Given the description of an element on the screen output the (x, y) to click on. 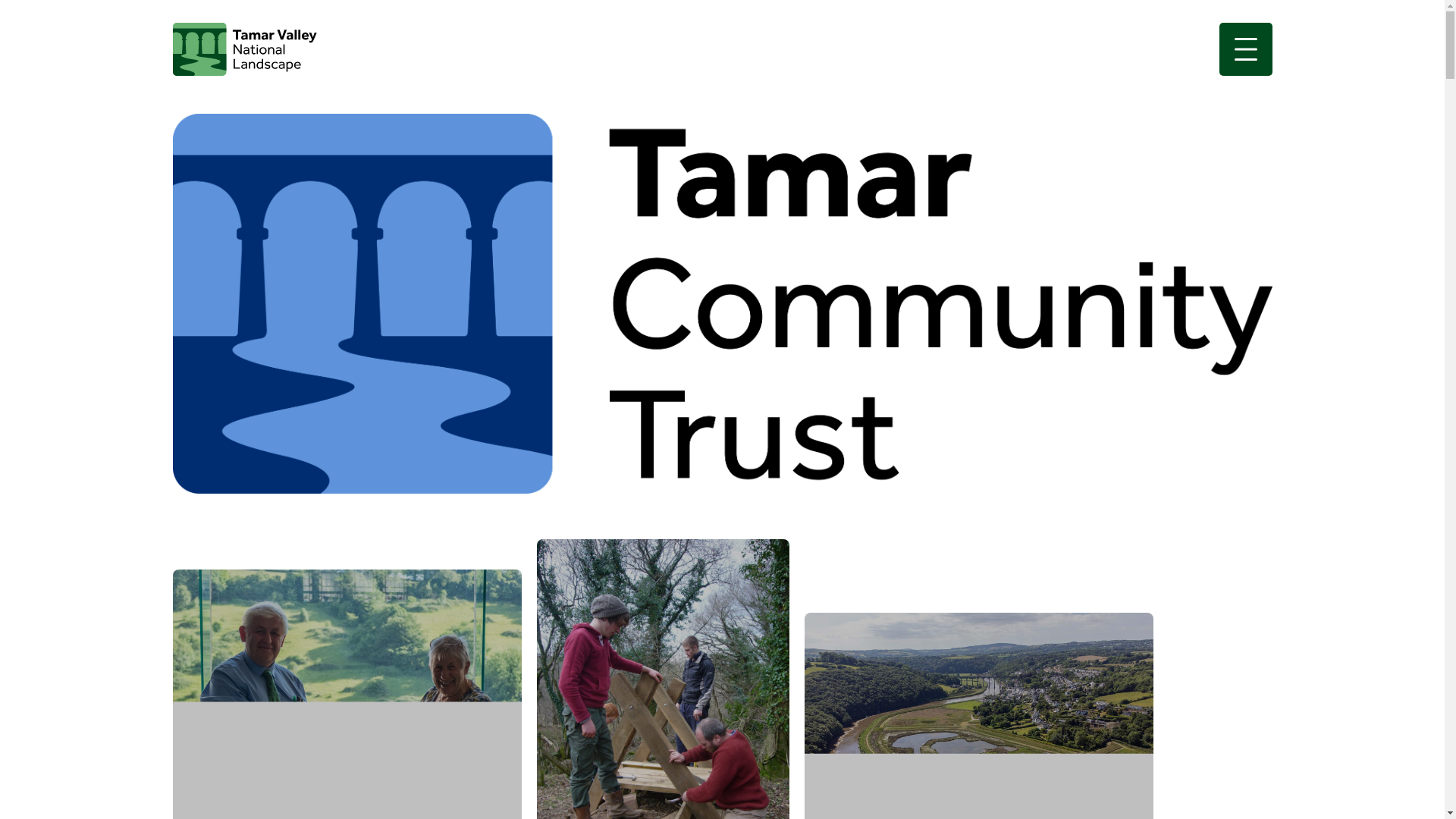
Our Vision (663, 678)
Our Projects (979, 715)
Who we are (347, 694)
